Given the description of an element on the screen output the (x, y) to click on. 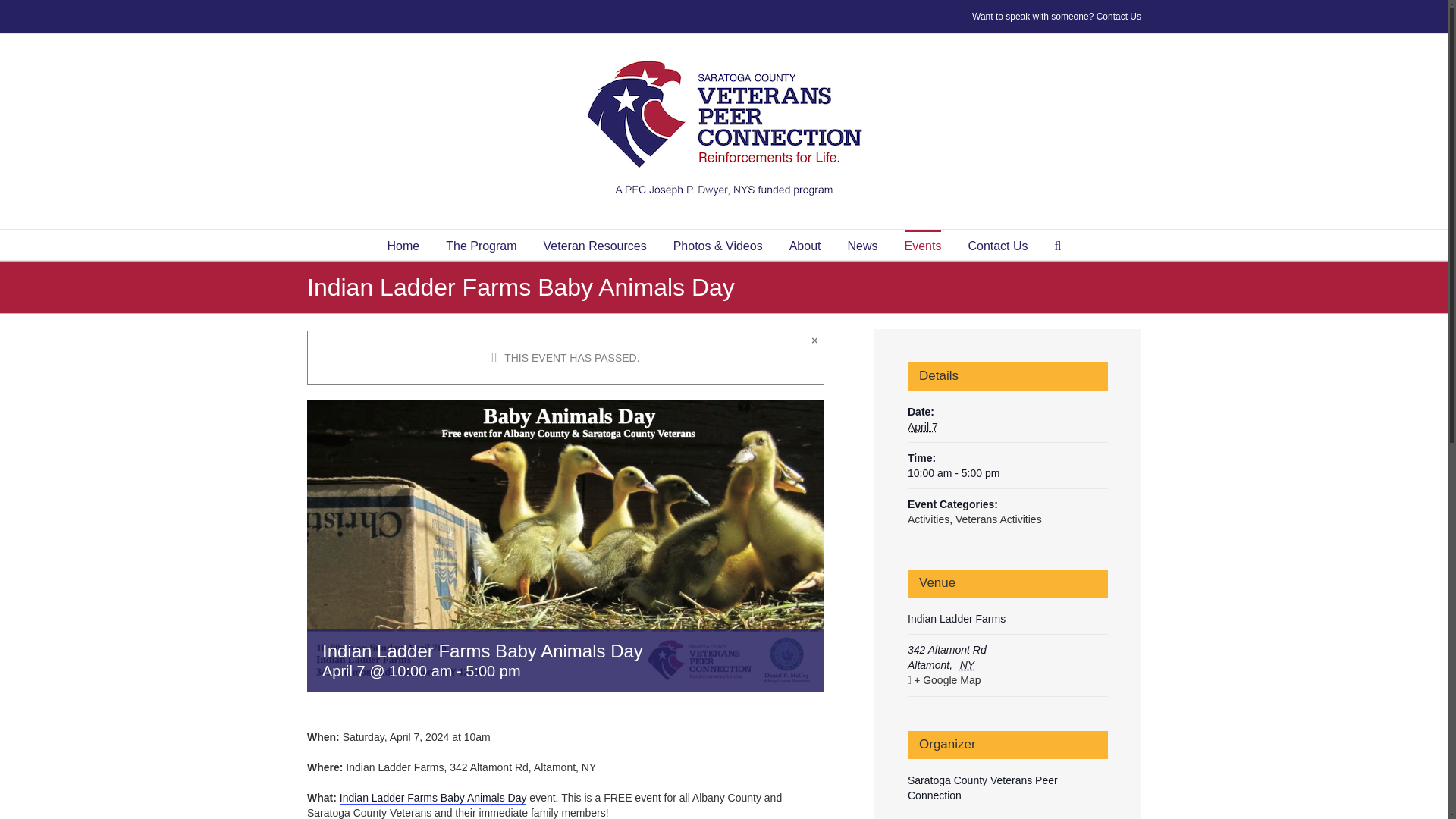
New York (968, 664)
Home (403, 245)
Click to view a Google Map (1006, 680)
Indian Ladder Farms Baby Animals Day (433, 797)
Contact Us (1118, 16)
Contact Us (997, 245)
Veteran Resources (594, 245)
News (862, 245)
Events (922, 245)
The Program (480, 245)
2024-04-07 (922, 426)
About (805, 245)
2024-04-07 (1007, 473)
